Given the description of an element on the screen output the (x, y) to click on. 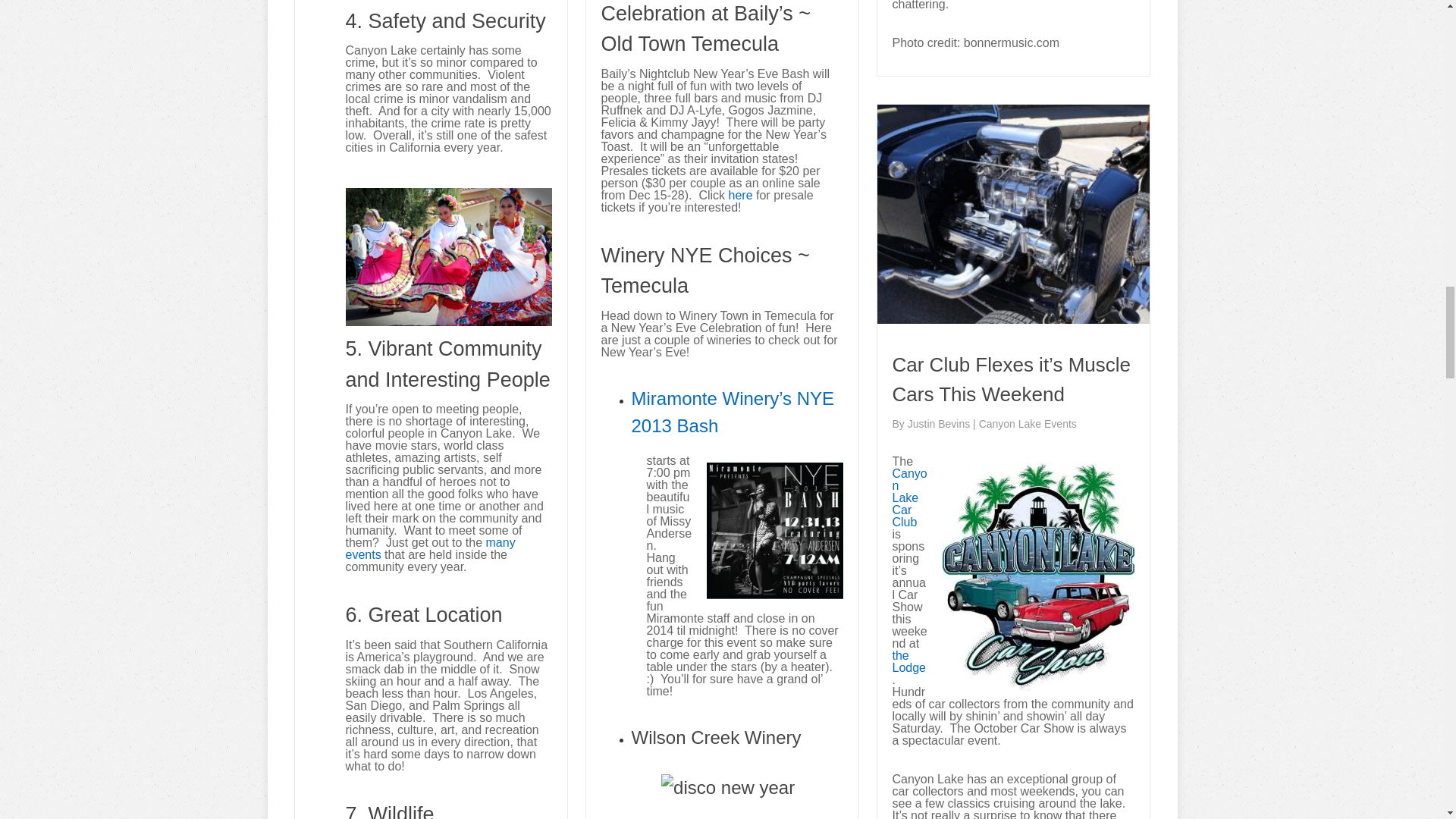
The Lodge (908, 661)
Canyon Lake Event Calendar (430, 548)
here (742, 194)
